Given the description of an element on the screen output the (x, y) to click on. 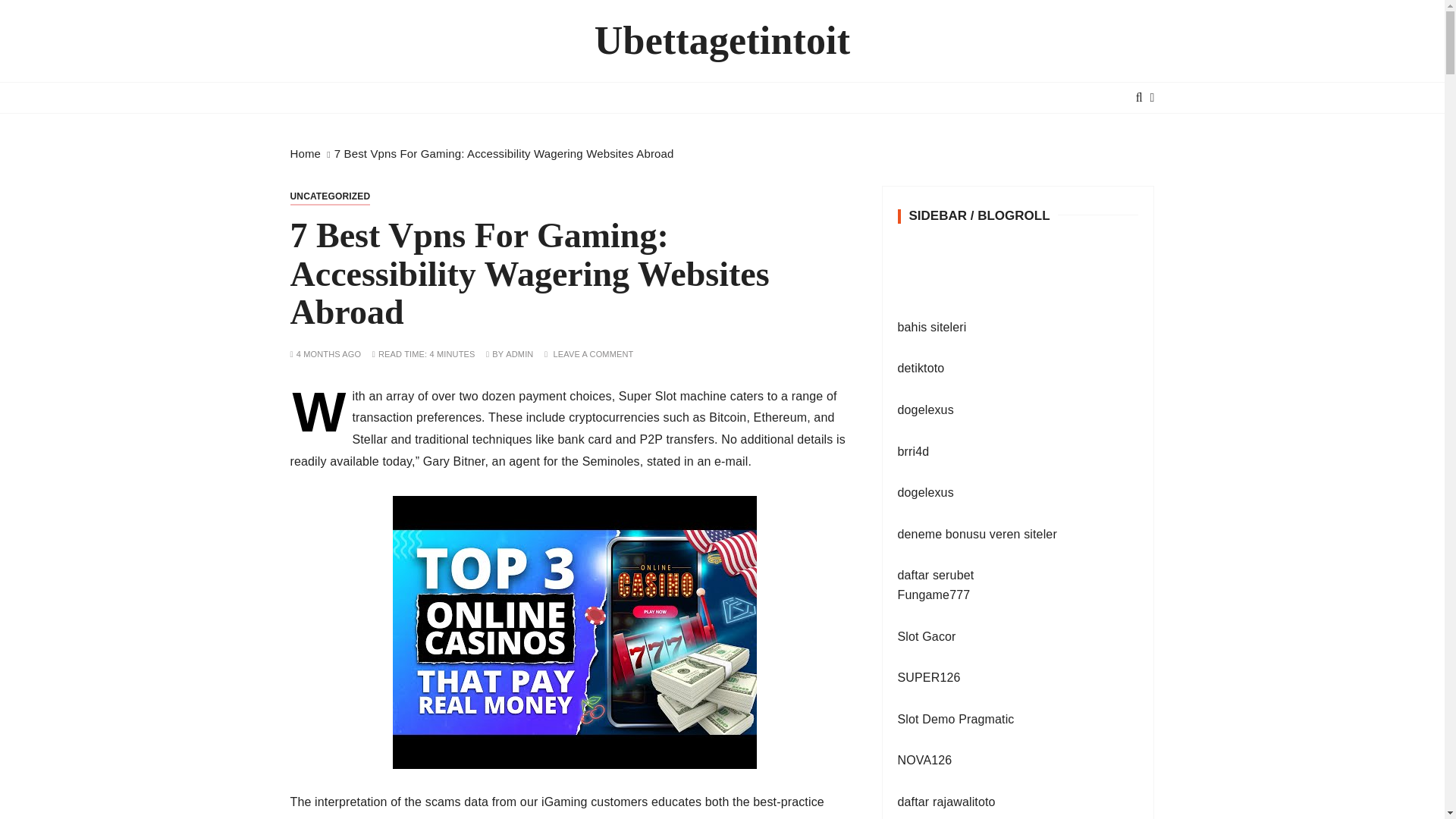
Slot Demo Pragmatic (956, 718)
daftar rajawalitoto (946, 801)
bahis siteleri (932, 327)
LEAVE A COMMENT (593, 354)
UNCATEGORIZED (329, 196)
deneme bonusu veren siteler (977, 533)
dogelexus (925, 492)
Slot Gacor (927, 635)
Fungame777 (934, 594)
dogelexus (925, 409)
SUPER126 (929, 676)
detiktoto (921, 367)
Ubettagetintoit (722, 40)
NOVA126 (925, 759)
ADMIN (518, 354)
